Given the description of an element on the screen output the (x, y) to click on. 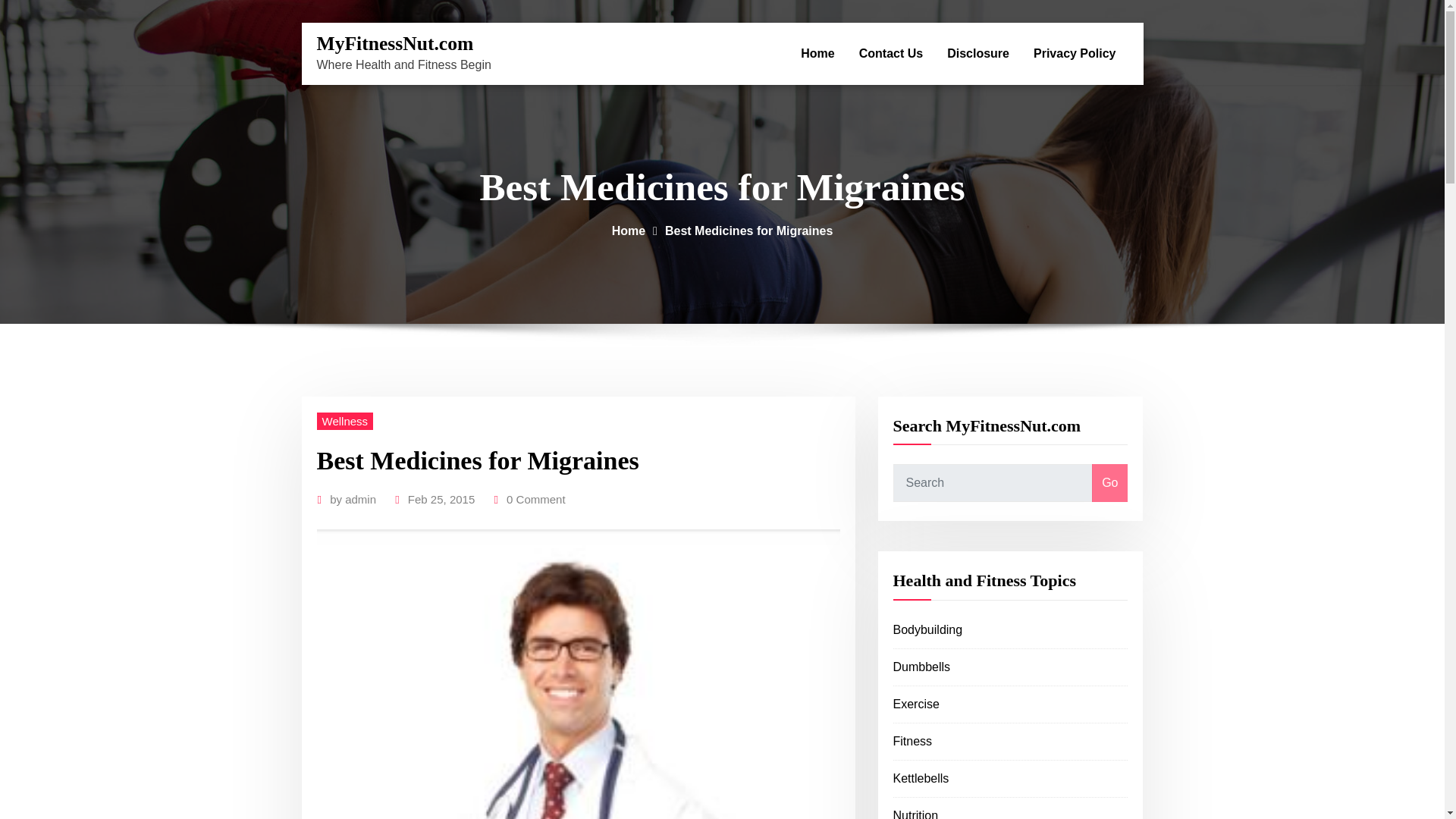
Exercise (916, 703)
Best Medicines for Migraines (748, 230)
Kettlebells (921, 778)
Disclosure (978, 53)
Feb 25, 2015 (440, 499)
Nutrition (916, 814)
Bodybuilding (927, 629)
Wellness (345, 420)
Fitness (913, 740)
Home (817, 53)
